Given the description of an element on the screen output the (x, y) to click on. 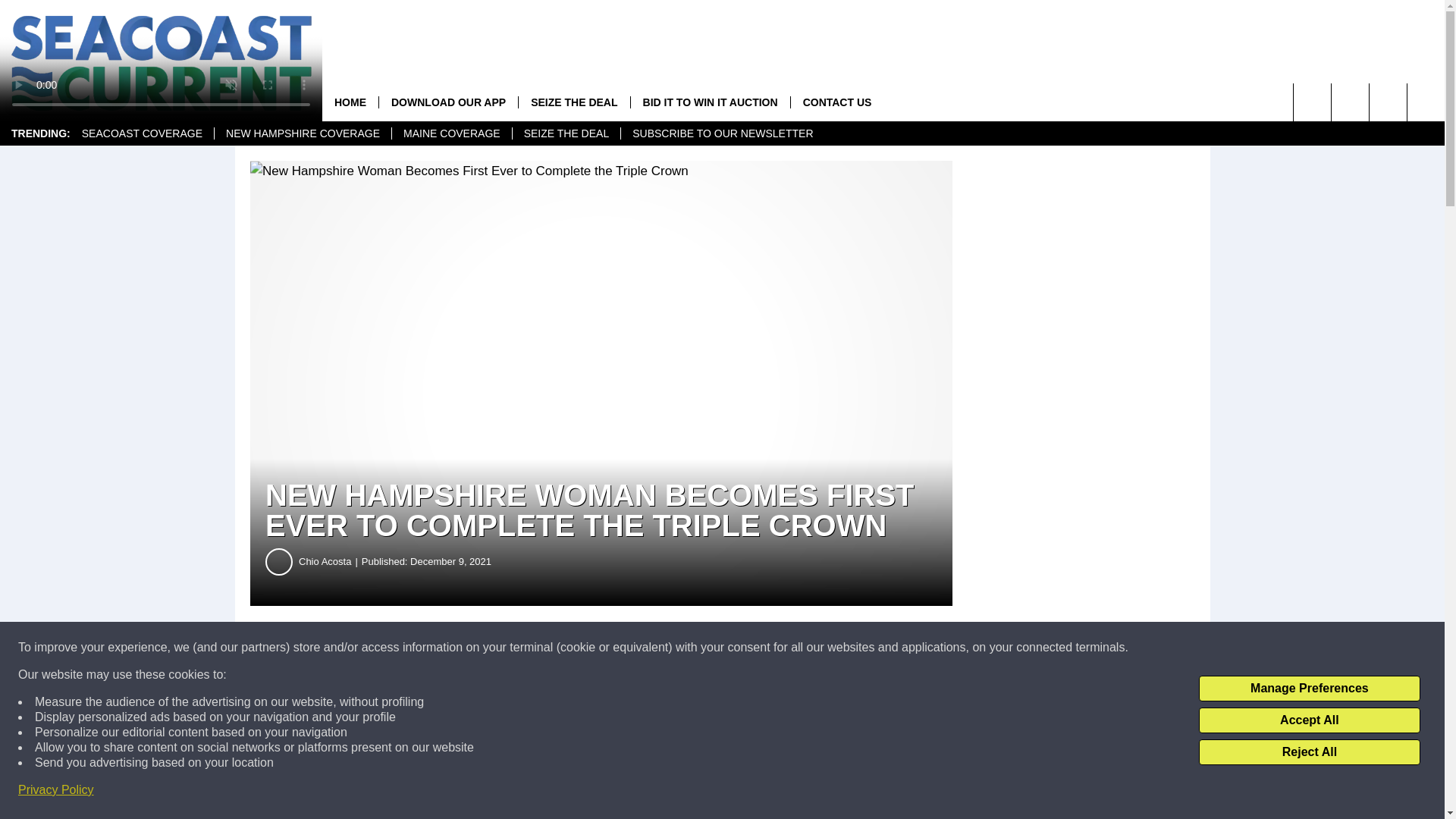
Visit us on Youtube (1350, 102)
Privacy Policy (55, 789)
Share on Facebook (460, 647)
DOWNLOAD OUR APP (448, 102)
Manage Preferences (1309, 688)
Share on Twitter (741, 647)
Accept All (1309, 720)
BID IT TO WIN IT AUCTION (710, 102)
SEIZE THE DEAL (573, 102)
HOME (349, 102)
MAINE COVERAGE (451, 133)
SUBSCRIBE TO OUR NEWSLETTER (722, 133)
SEACOAST COVERAGE (141, 133)
Reject All (1309, 751)
SEIZE THE DEAL (566, 133)
